Given the description of an element on the screen output the (x, y) to click on. 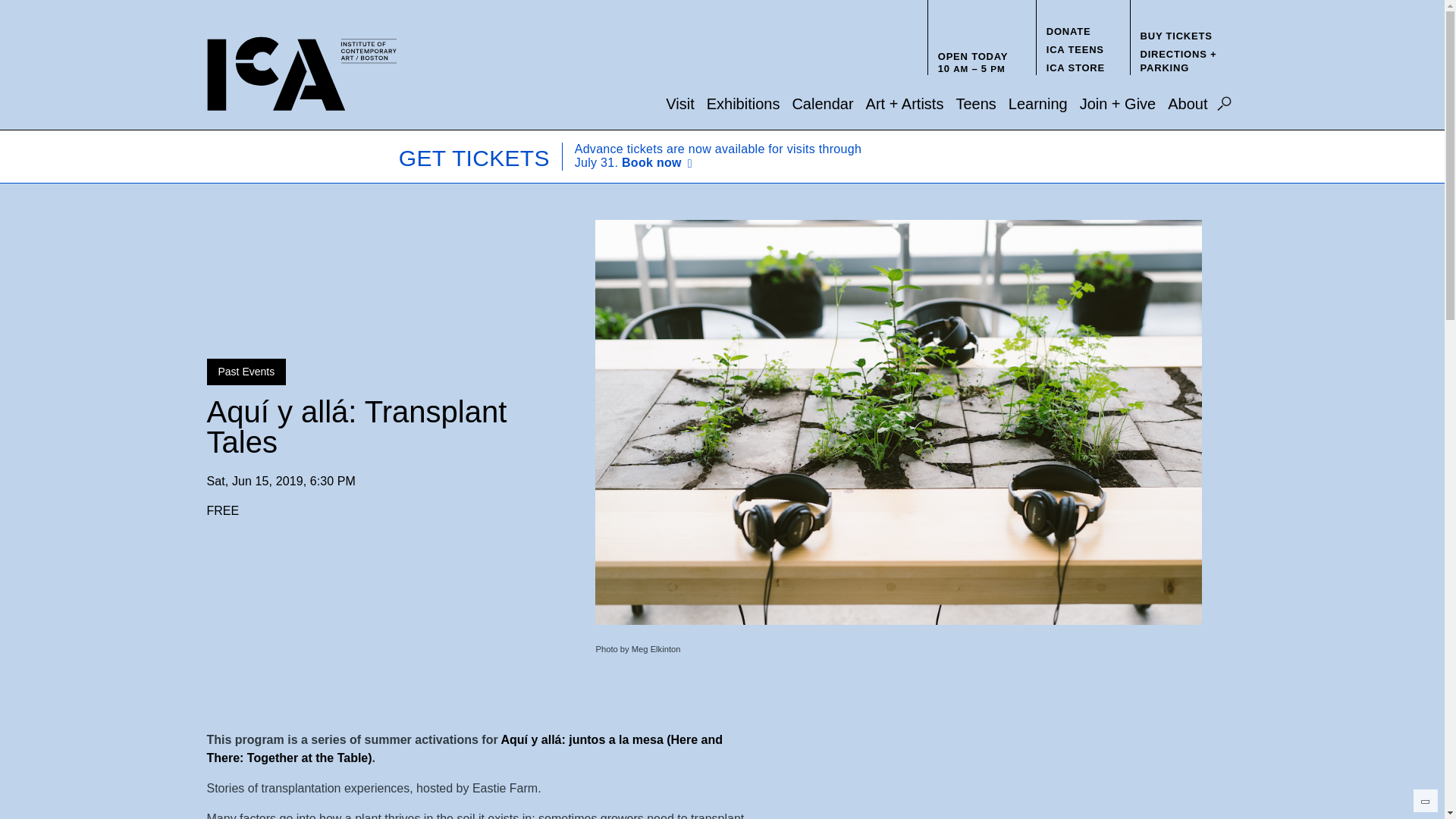
Back to the top (1425, 800)
About (1187, 103)
ICA TEENS (1074, 49)
ICA STORE (1075, 67)
Exhibitions (743, 103)
Visit (679, 103)
DONATE (1068, 30)
BUY TICKETS (1176, 35)
Calendar (822, 103)
Learning (1038, 103)
Book now (659, 163)
Teens (975, 103)
